Given the description of an element on the screen output the (x, y) to click on. 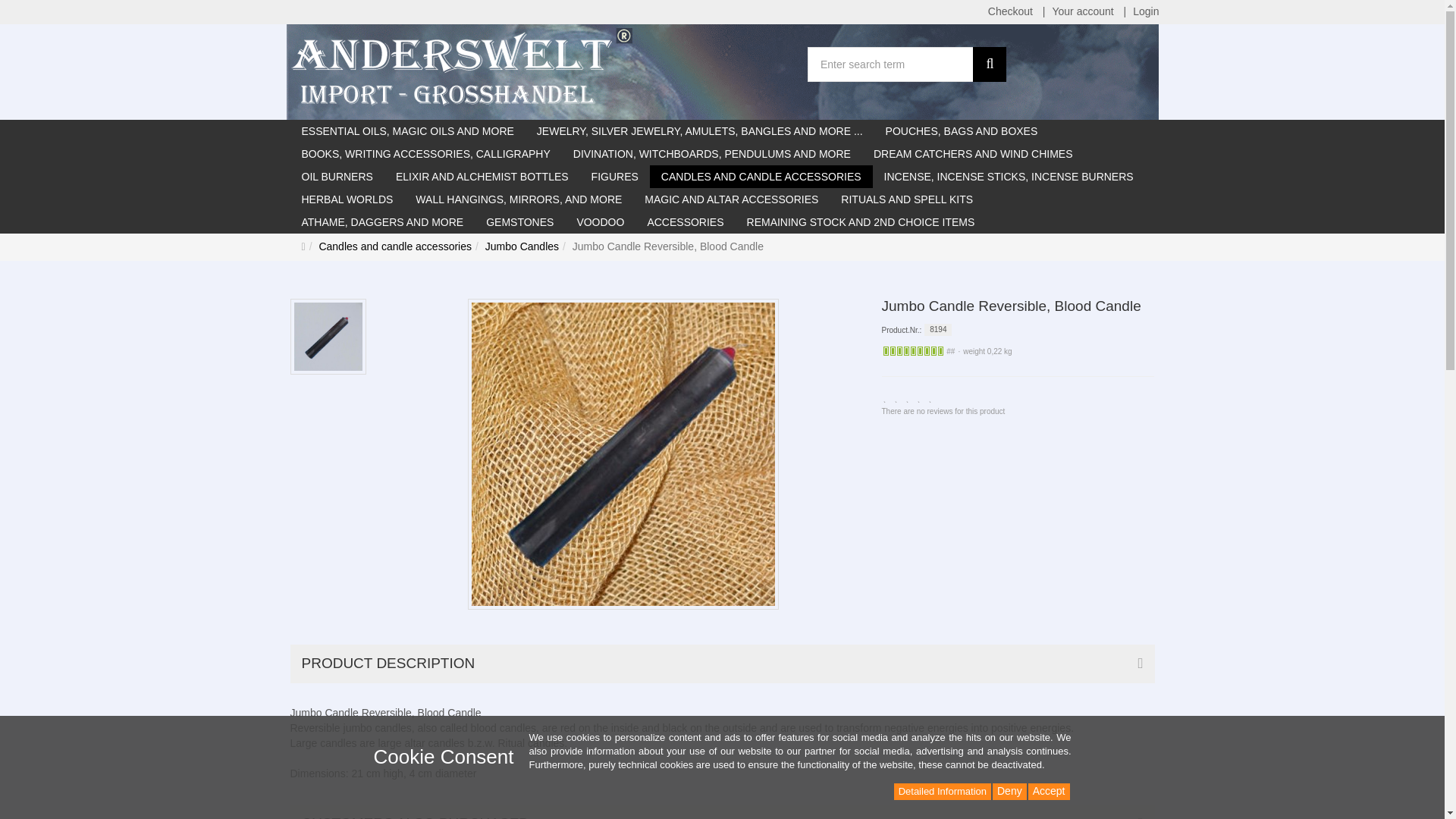
Checkout (1010, 12)
Your account (1082, 12)
Login (1145, 12)
search (989, 63)
JEWELRY, SILVER JEWELRY, AMULETS, BANGLES AND MORE ... (700, 130)
ESSENTIAL OILS, MAGIC OILS AND MORE (406, 130)
Jumbo Candle Reversible, Blood Candle (328, 336)
Jumbo Candle Reversible, Blood Candle (660, 246)
Jumbo Candle Reversible, Blood Candle (622, 454)
